Given the description of an element on the screen output the (x, y) to click on. 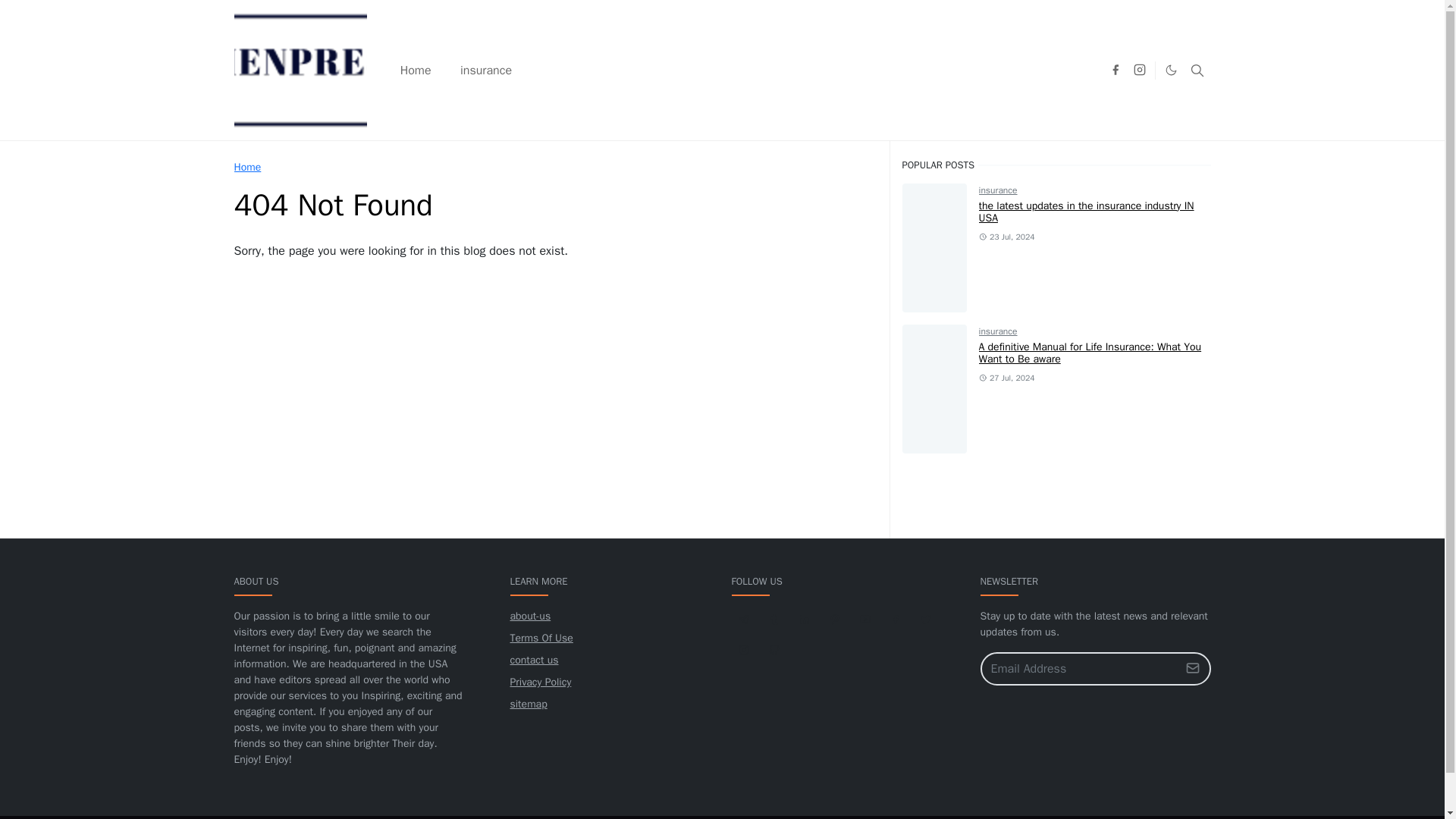
the latest updates in the insurance industry IN USA (1085, 212)
insurance (997, 190)
about-us (529, 615)
insurance (485, 69)
Home (246, 166)
contact us (533, 659)
Home (415, 69)
Terms Of Use (540, 637)
insurance (997, 331)
